Given the description of an element on the screen output the (x, y) to click on. 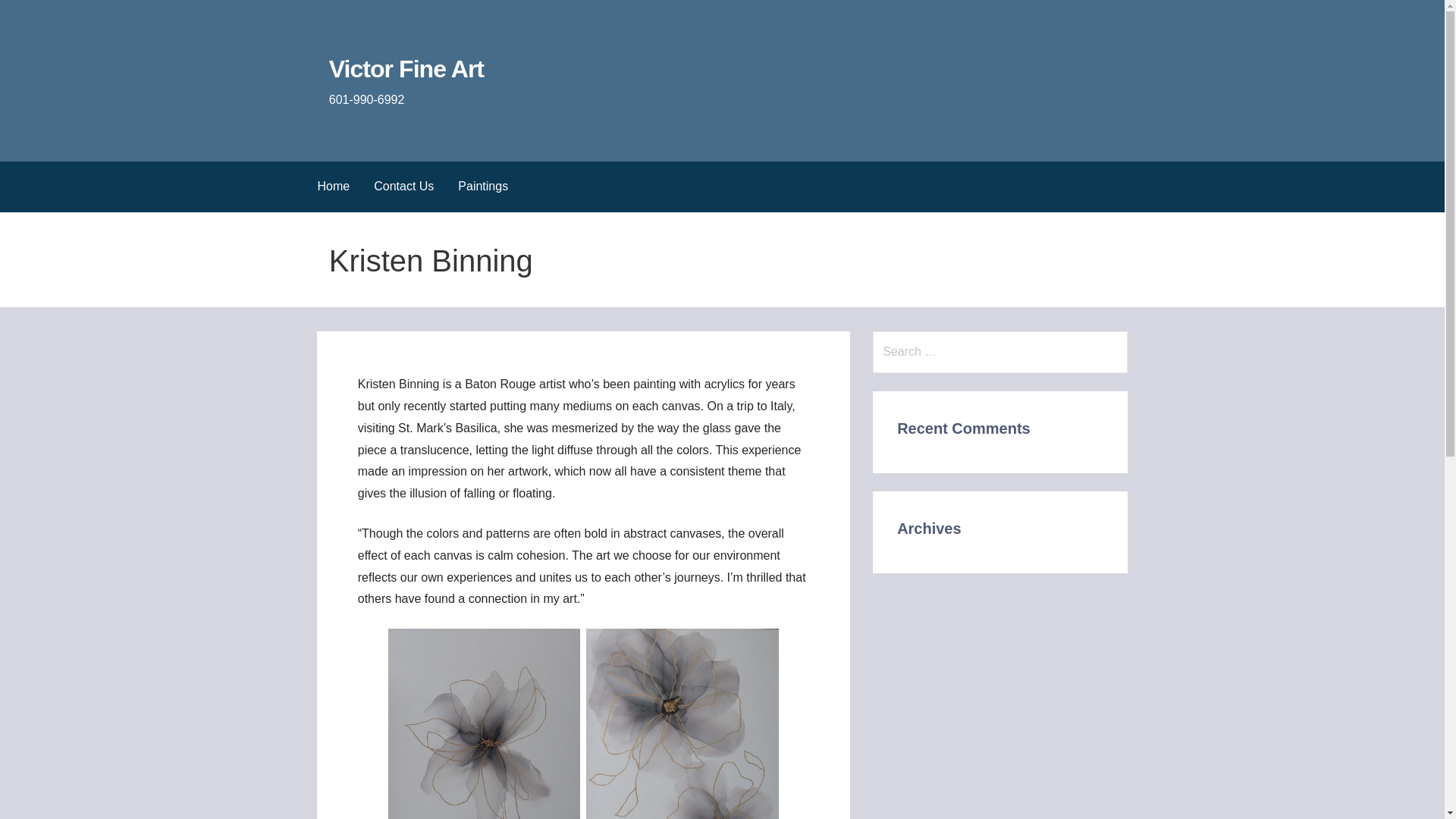
Victor Fine Art (406, 68)
Paintings (482, 186)
Search (31, 15)
Contact Us (403, 186)
Home (332, 186)
